Given the description of an element on the screen output the (x, y) to click on. 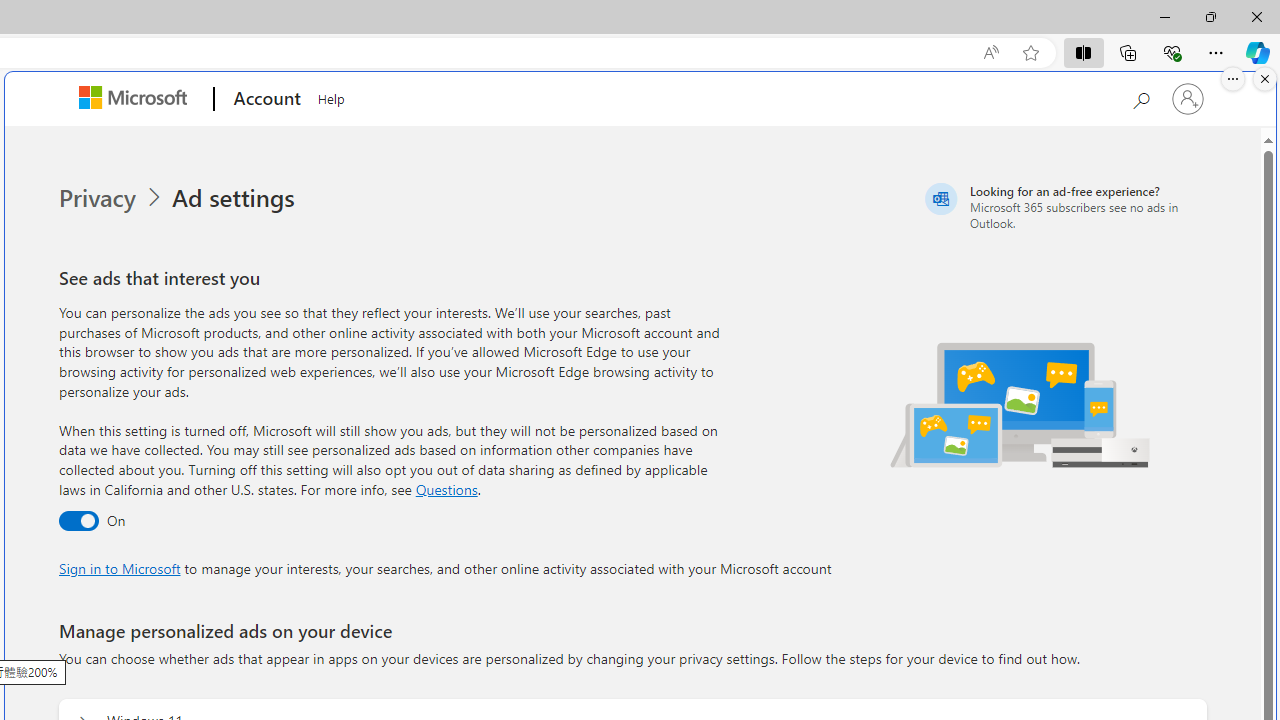
Ad settings (236, 197)
Looking for an ad-free experience? (1063, 206)
Microsoft (136, 99)
Account (264, 99)
Ad settings toggle (78, 521)
Help (331, 96)
Sign in to your account (1188, 98)
Go to Questions section (445, 488)
